Given the description of an element on the screen output the (x, y) to click on. 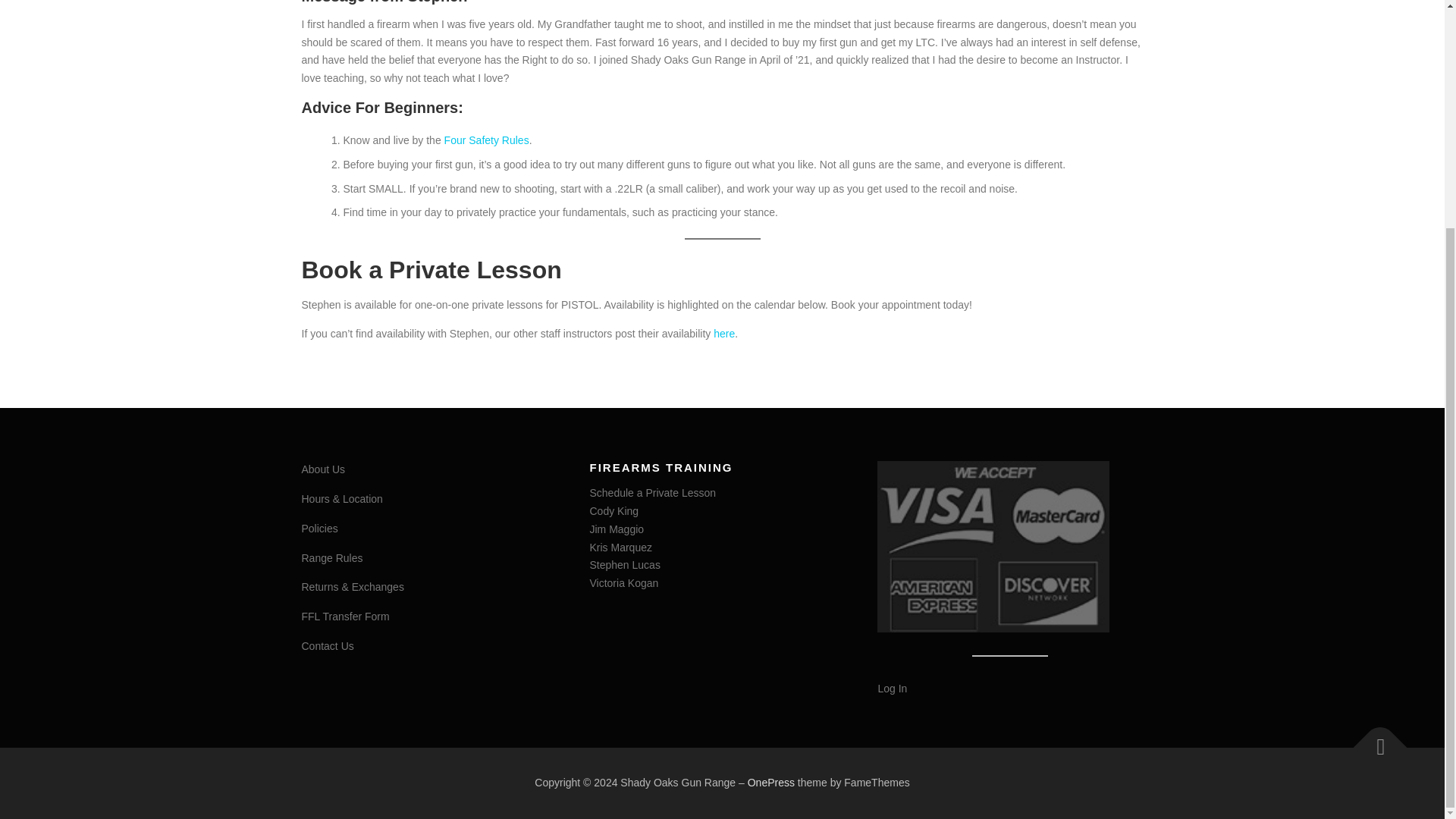
Contact Us (327, 645)
Jim Maggio (616, 529)
Victoria Kogan (623, 582)
About Us (323, 469)
Log In (892, 688)
FFL Transfer Form (345, 616)
Cody King (614, 510)
Range Rules (331, 558)
Schedule a Private Lesson (652, 492)
here (724, 333)
